Given the description of an element on the screen output the (x, y) to click on. 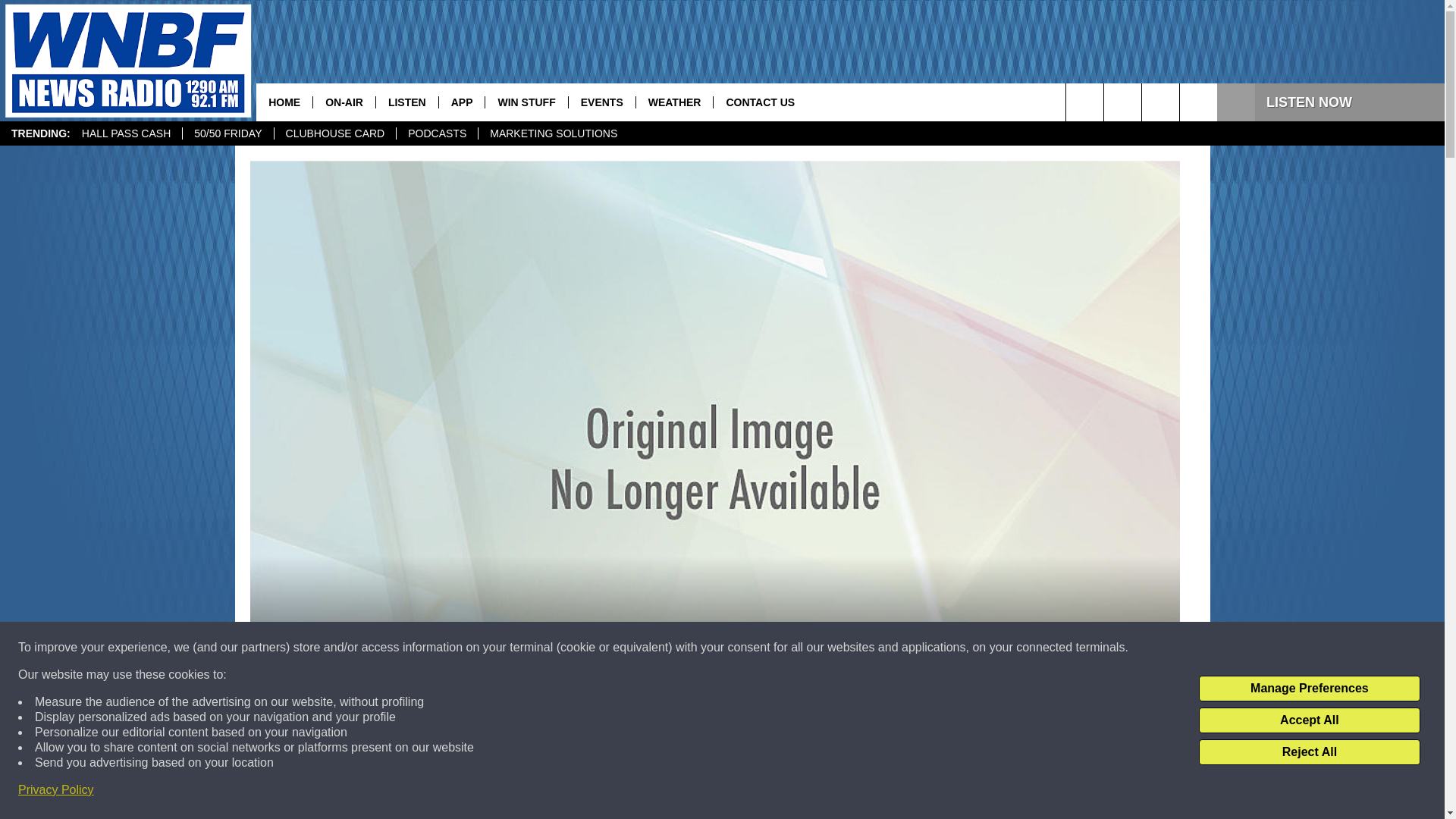
EVENTS (600, 102)
ON-AIR (344, 102)
WIN STUFF (525, 102)
Reject All (1309, 751)
Privacy Policy (55, 789)
WEATHER (673, 102)
Share on Facebook (517, 791)
PODCASTS (436, 133)
LISTEN (406, 102)
HALL PASS CASH (126, 133)
Accept All (1309, 720)
HOME (284, 102)
Share on Twitter (912, 791)
MARKETING SOLUTIONS (552, 133)
APP (461, 102)
